Given the description of an element on the screen output the (x, y) to click on. 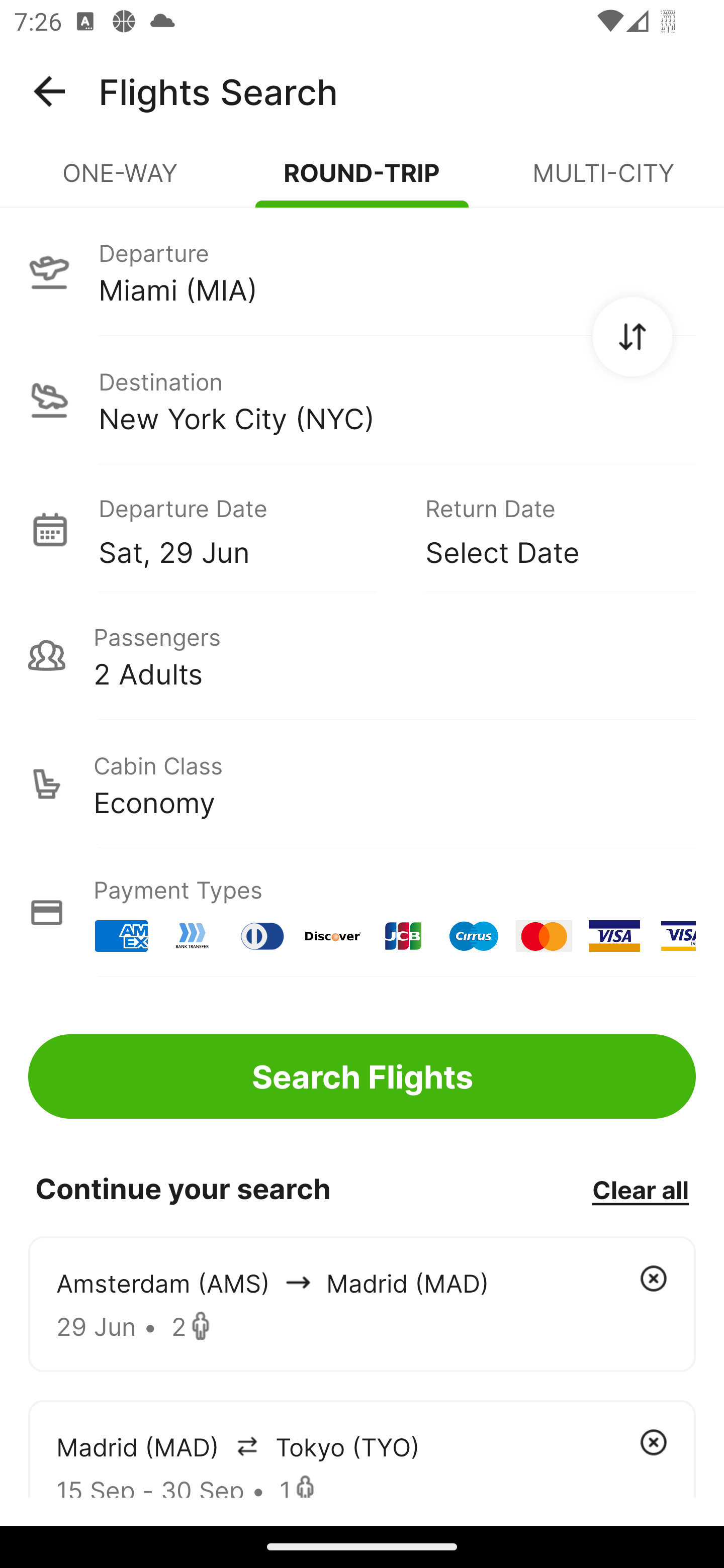
ONE-WAY (120, 180)
ROUND-TRIP (361, 180)
MULTI-CITY (603, 180)
Departure Miami (MIA) (362, 270)
Destination New York City (NYC) (362, 400)
Departure Date Sat, 29 Jun (247, 528)
Return Date Select Date (546, 528)
Passengers 2 Adults (362, 655)
Cabin Class Economy (362, 783)
Payment Types (362, 912)
Search Flights (361, 1075)
Clear all (640, 1189)
